Given the description of an element on the screen output the (x, y) to click on. 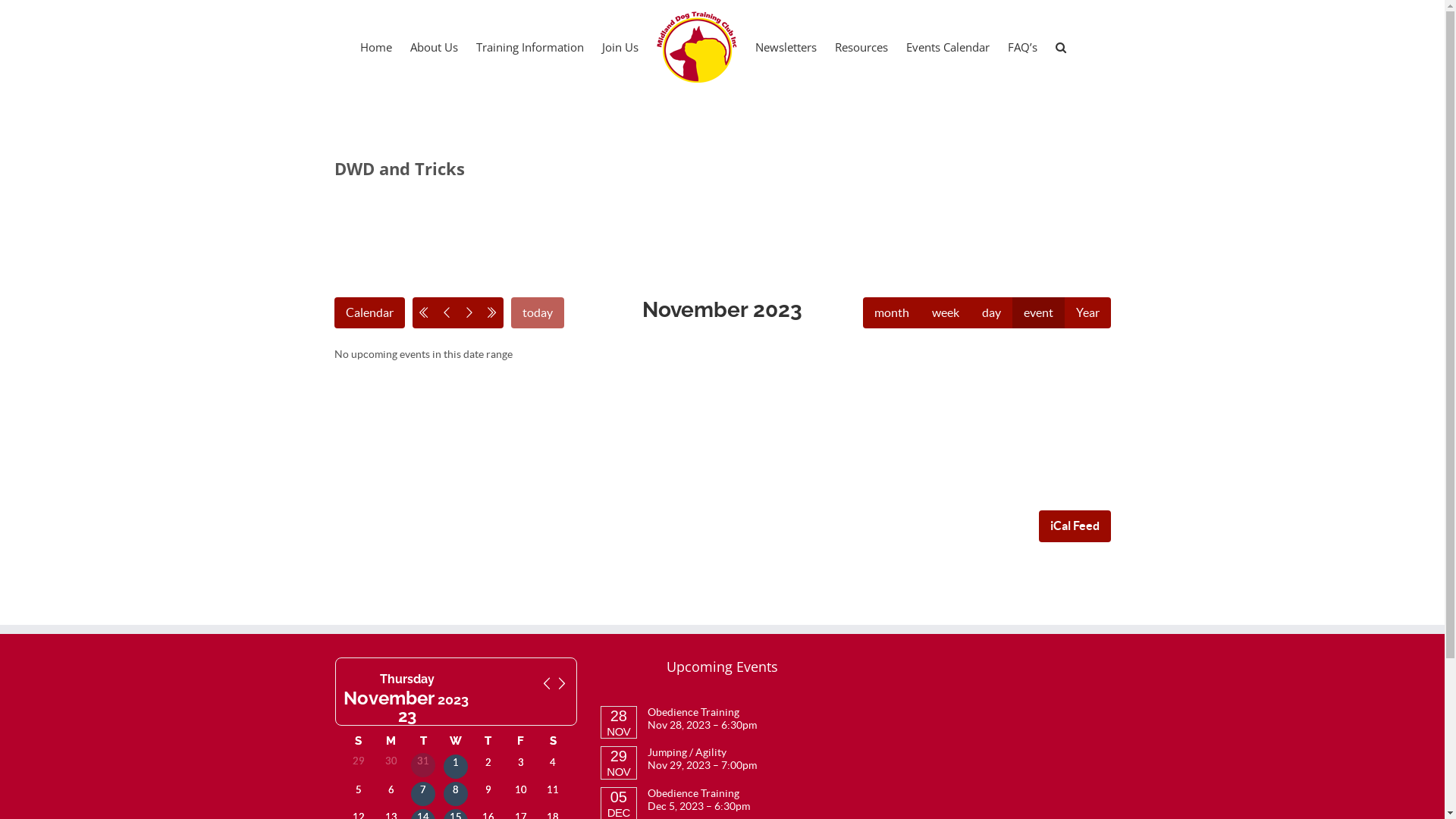
Events Calendar Element type: text (947, 45)
Training Information Element type: text (529, 45)
About Us Element type: text (434, 45)
Obedience Training Element type: text (693, 712)
Join Us Element type: text (620, 45)
Jumping / Agility Element type: text (686, 752)
Search Element type: hover (1060, 45)
Obedience Training Element type: text (693, 793)
Resources Element type: text (861, 45)
Home Element type: text (376, 45)
Newsletters Element type: text (785, 45)
